Given the description of an element on the screen output the (x, y) to click on. 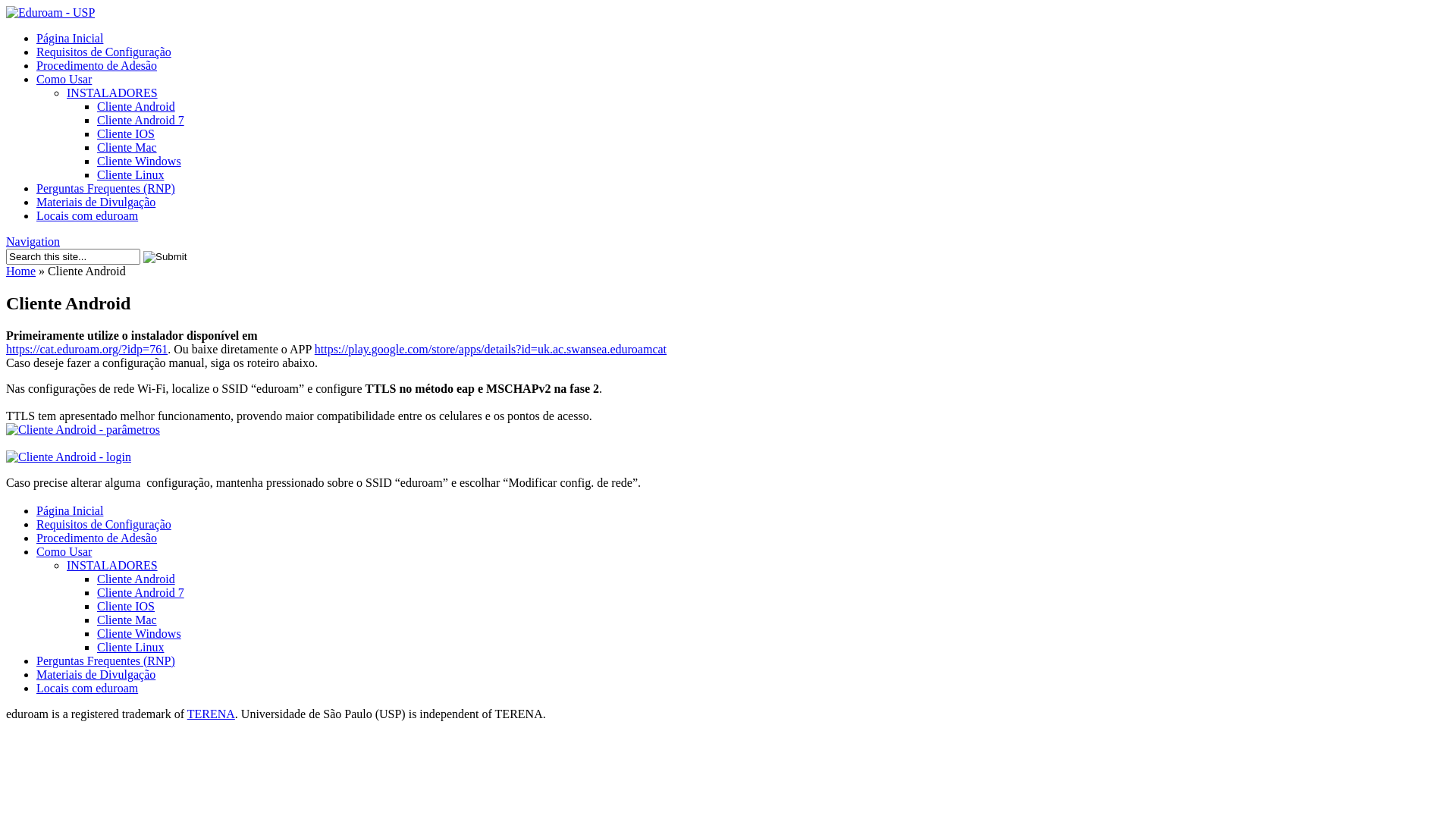
  Element type: hover (68, 456)
Locais com eduroam Element type: text (87, 215)
Perguntas Frequentes (RNP) Element type: text (105, 188)
Cliente Mac Element type: text (126, 619)
Como Usar Element type: text (63, 78)
Perguntas Frequentes (RNP) Element type: text (105, 660)
Cliente Android 7 Element type: text (140, 592)
https://cat.eduroam.org/?idp=761 Element type: text (86, 348)
TERENA Element type: text (211, 713)
Cliente Windows Element type: text (139, 633)
INSTALADORES Element type: text (111, 564)
Cliente IOS Element type: text (125, 605)
Cliente Linux Element type: text (130, 174)
Locais com eduroam Element type: text (87, 687)
Home Element type: text (20, 270)
Cliente Linux Element type: text (130, 646)
INSTALADORES Element type: text (111, 92)
Cliente Android 7 Element type: text (140, 119)
Navigation Element type: text (32, 241)
Cliente Android Element type: text (136, 106)
Cliente Windows Element type: text (139, 160)
  Element type: hover (83, 429)
Cliente Mac Element type: text (126, 147)
Cliente IOS Element type: text (125, 133)
Cliente Android Element type: text (136, 578)
Como Usar Element type: text (63, 551)
Cliente Android - login Element type: hover (68, 457)
